Given the description of an element on the screen output the (x, y) to click on. 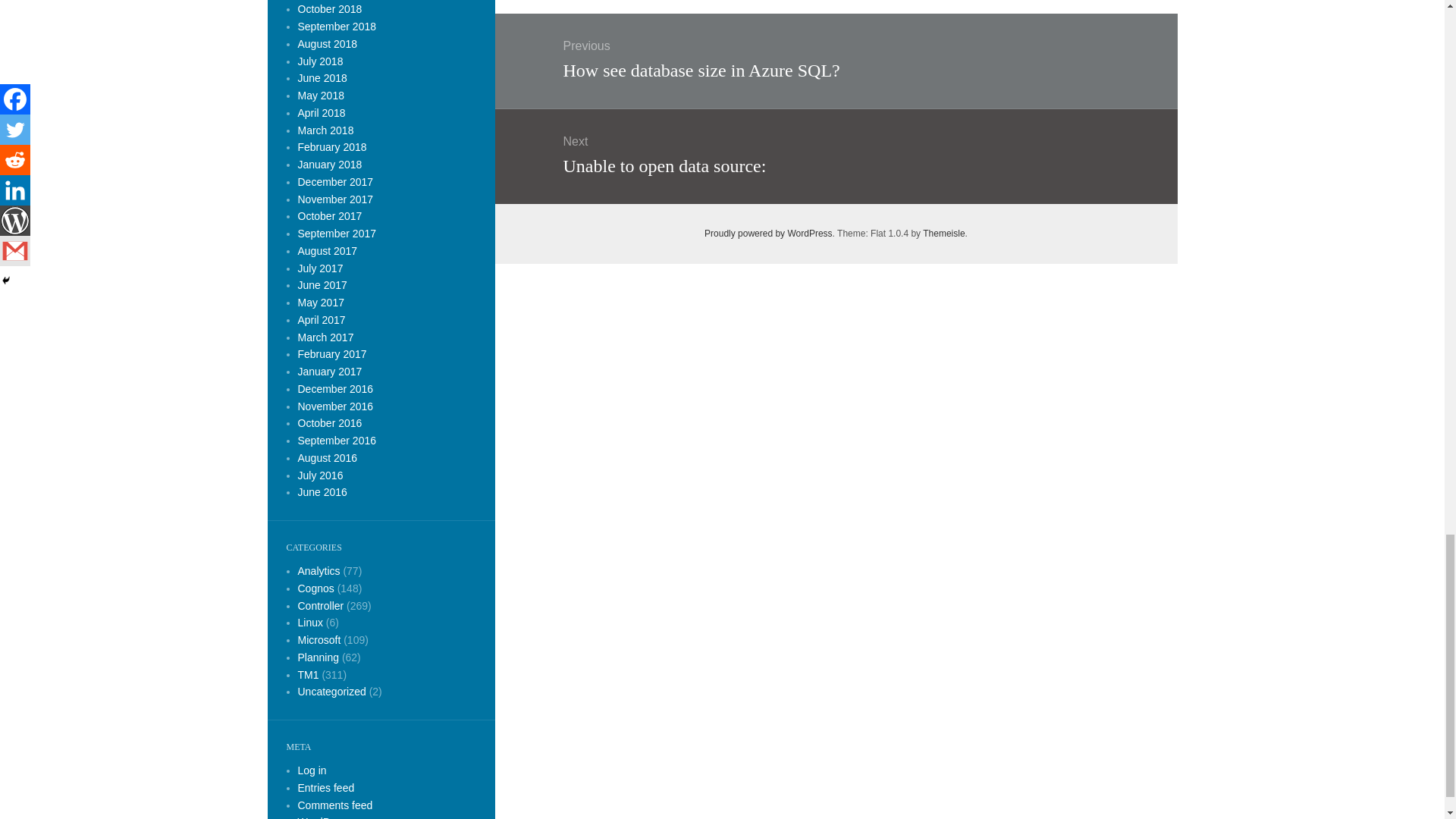
Information about Cognos BI (315, 588)
Information about Cognos Planning (318, 657)
Semantic Personal Publishing Platform (768, 233)
Flat WordPress Theme (943, 233)
Information about Cognos TM1 (307, 674)
IBM Cognos Business Intelligence  (318, 571)
Information about Cognos Controller (320, 604)
